Given the description of an element on the screen output the (x, y) to click on. 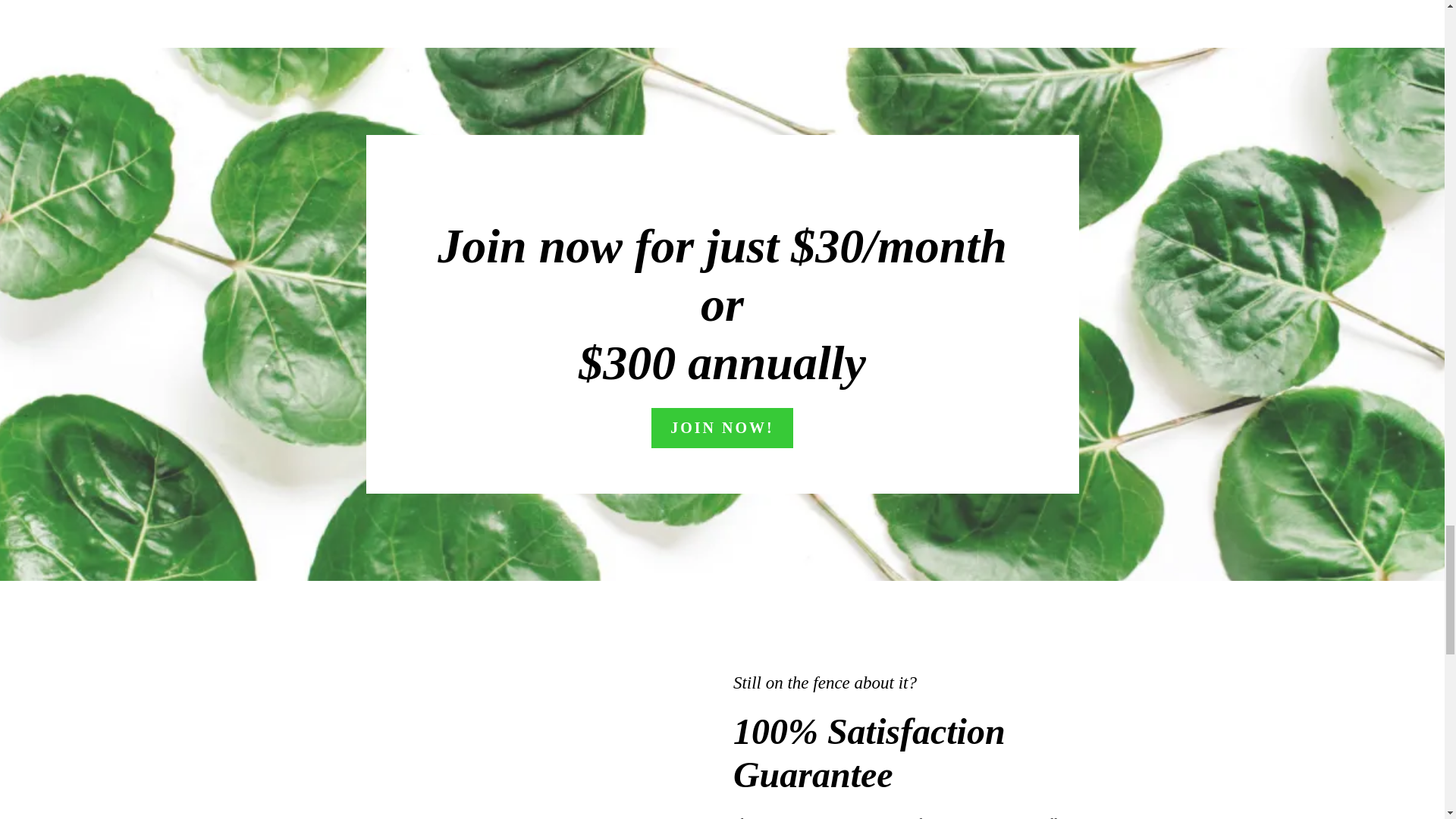
JOIN NOW! (721, 427)
